Given the description of an element on the screen output the (x, y) to click on. 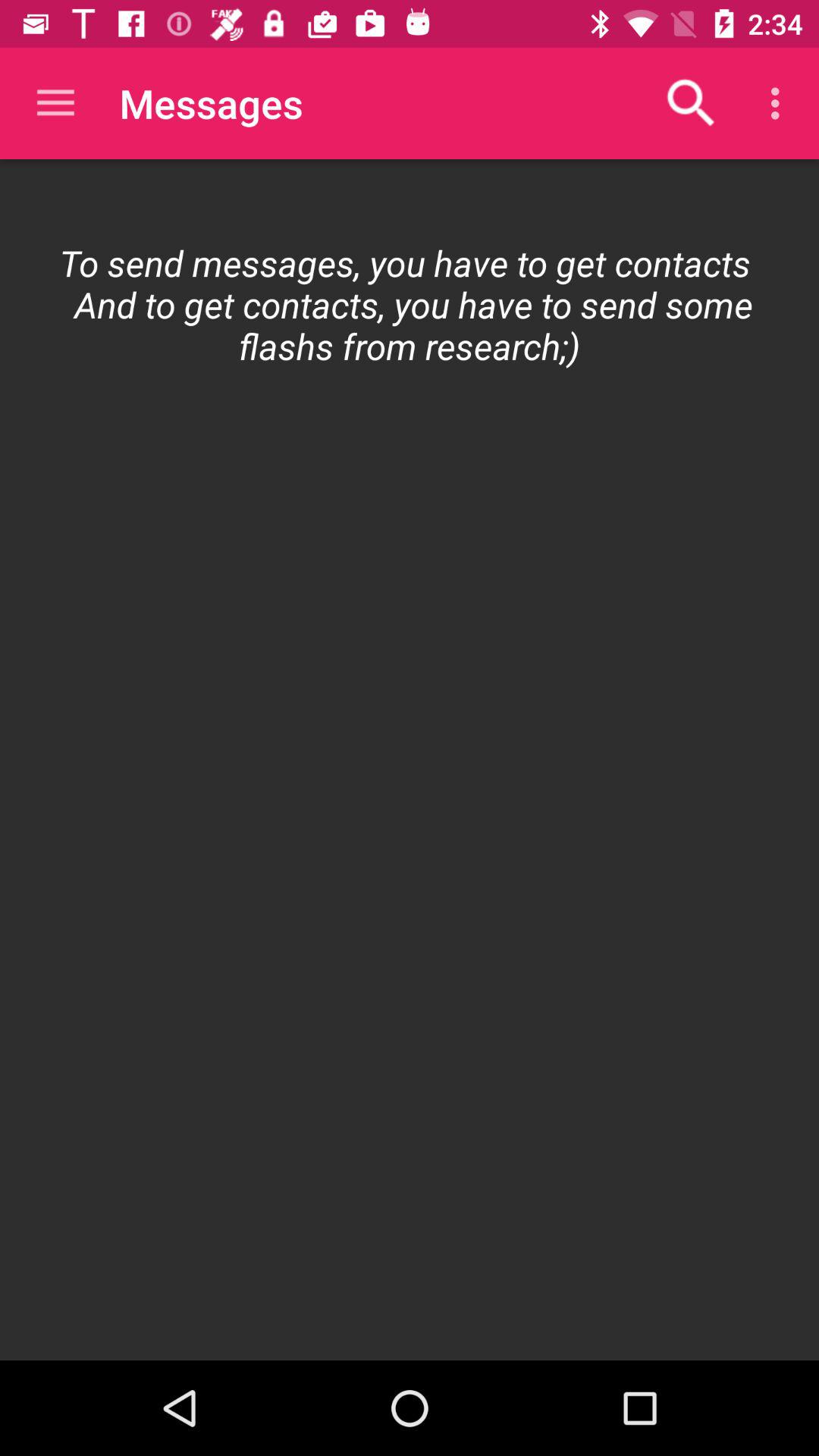
open app to the left of messages app (55, 103)
